Given the description of an element on the screen output the (x, y) to click on. 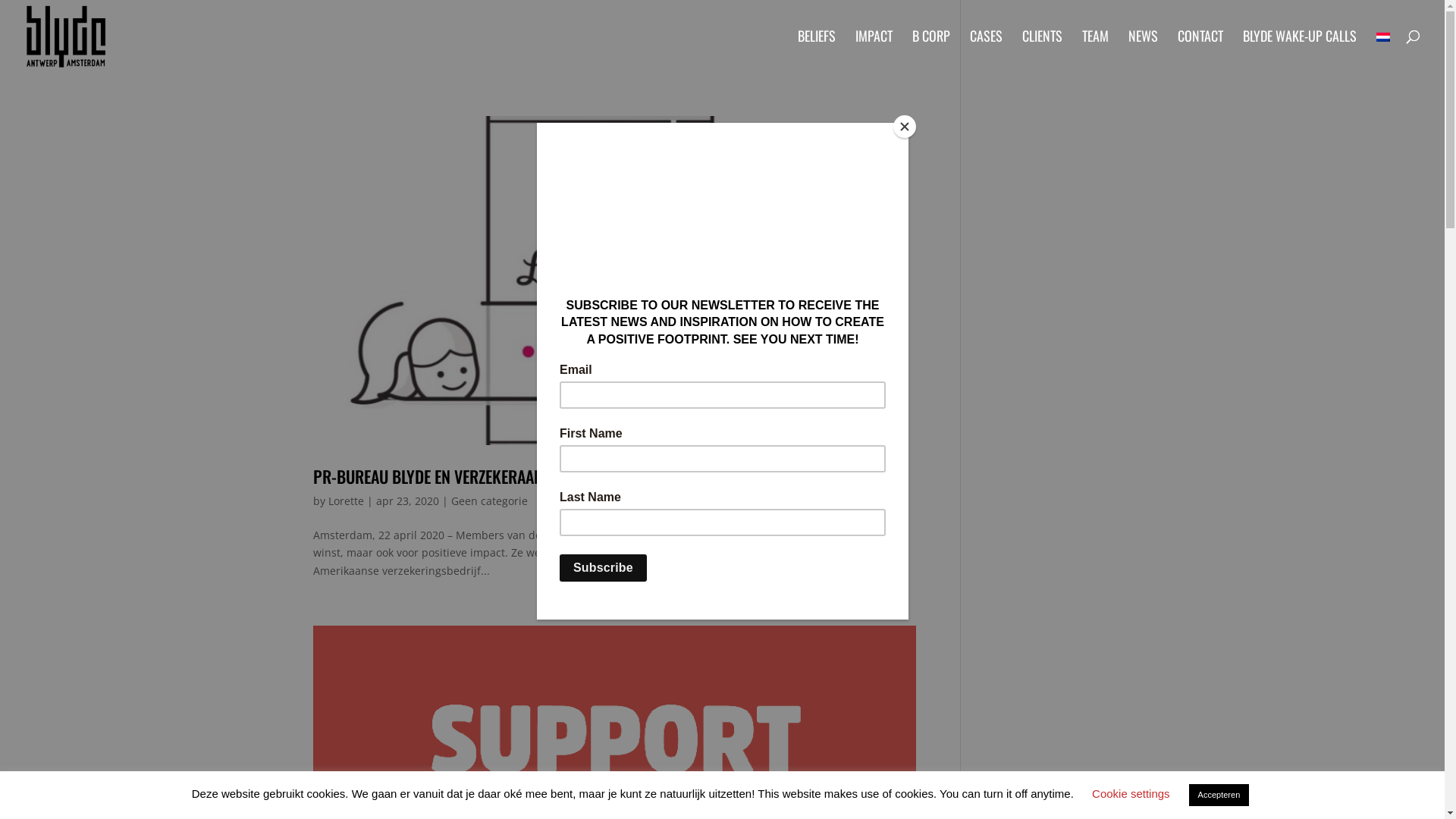
Cookie settings Element type: text (1131, 793)
PR-BUREAU BLYDE EN VERZEKERAAR LEMONADE SLAAN HANDEN INEEN Element type: text (533, 476)
BLYDE WAKE-UP CALLS Element type: text (1299, 50)
BELIEFS Element type: text (816, 50)
Accepteren Element type: text (1219, 795)
CLIENTS Element type: text (1042, 50)
CASES Element type: text (985, 50)
Lorette Element type: text (345, 500)
B CORP Element type: text (931, 50)
IMPACT Element type: text (873, 50)
CONTACT Element type: text (1200, 50)
NEWS Element type: text (1142, 50)
TEAM Element type: text (1095, 50)
Geen categorie Element type: text (488, 500)
